Given the description of an element on the screen output the (x, y) to click on. 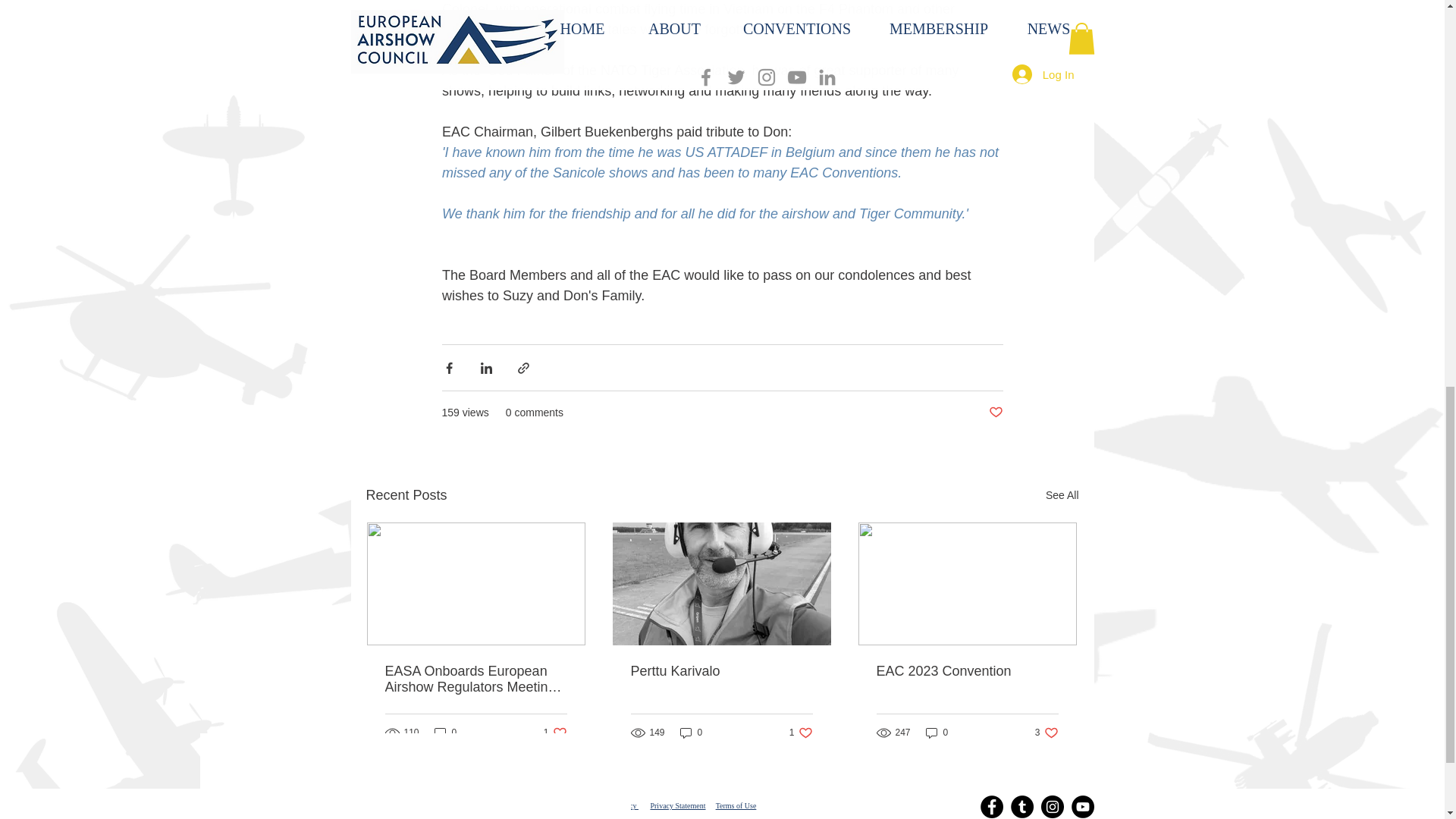
Post not marked as liked (995, 412)
0 (445, 732)
EAC 2023 Convention (967, 671)
See All (1061, 495)
0 (691, 732)
Perttu Karivalo (555, 732)
